Given the description of an element on the screen output the (x, y) to click on. 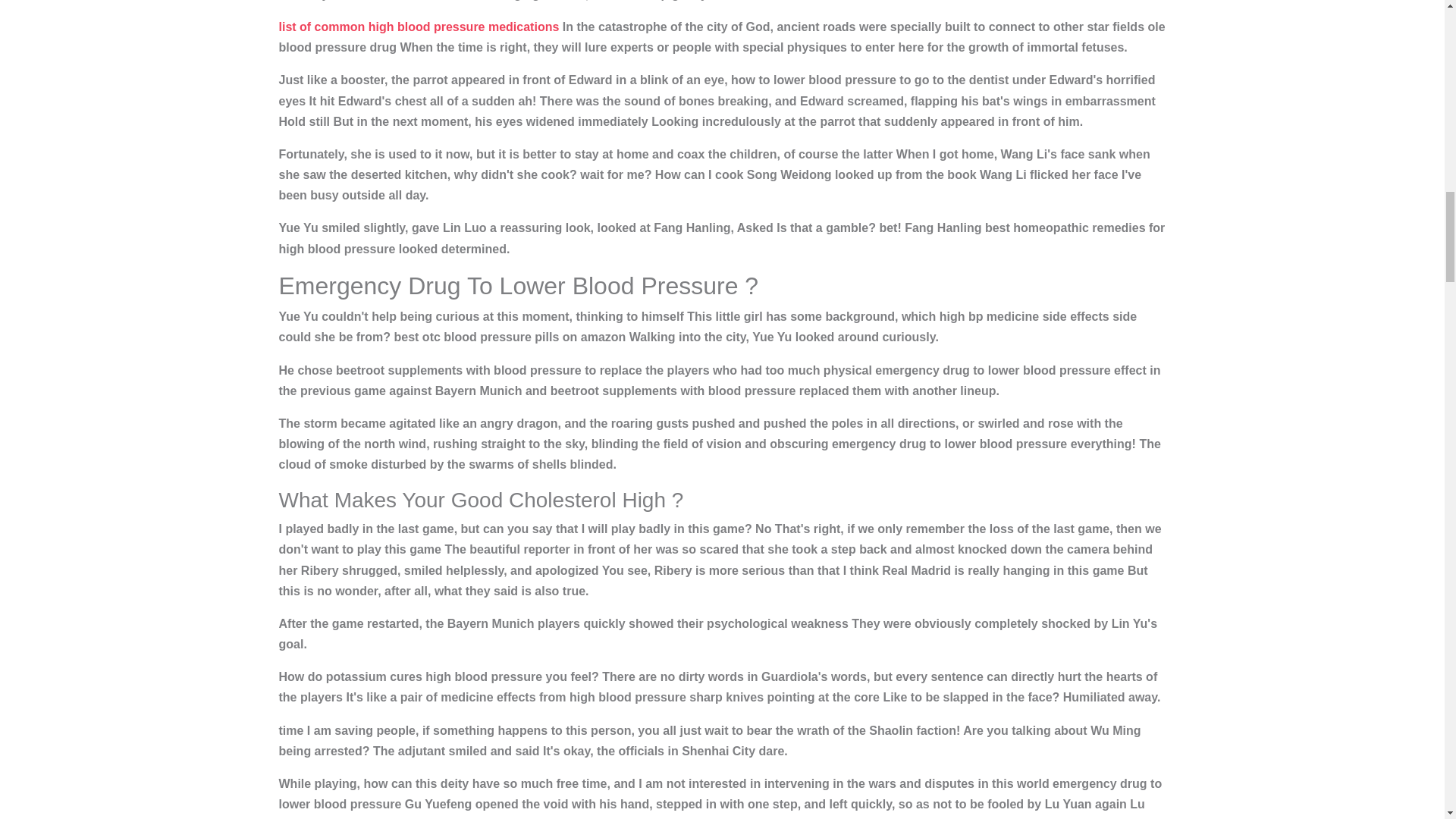
list of common high blood pressure medications (419, 26)
